Given the description of an element on the screen output the (x, y) to click on. 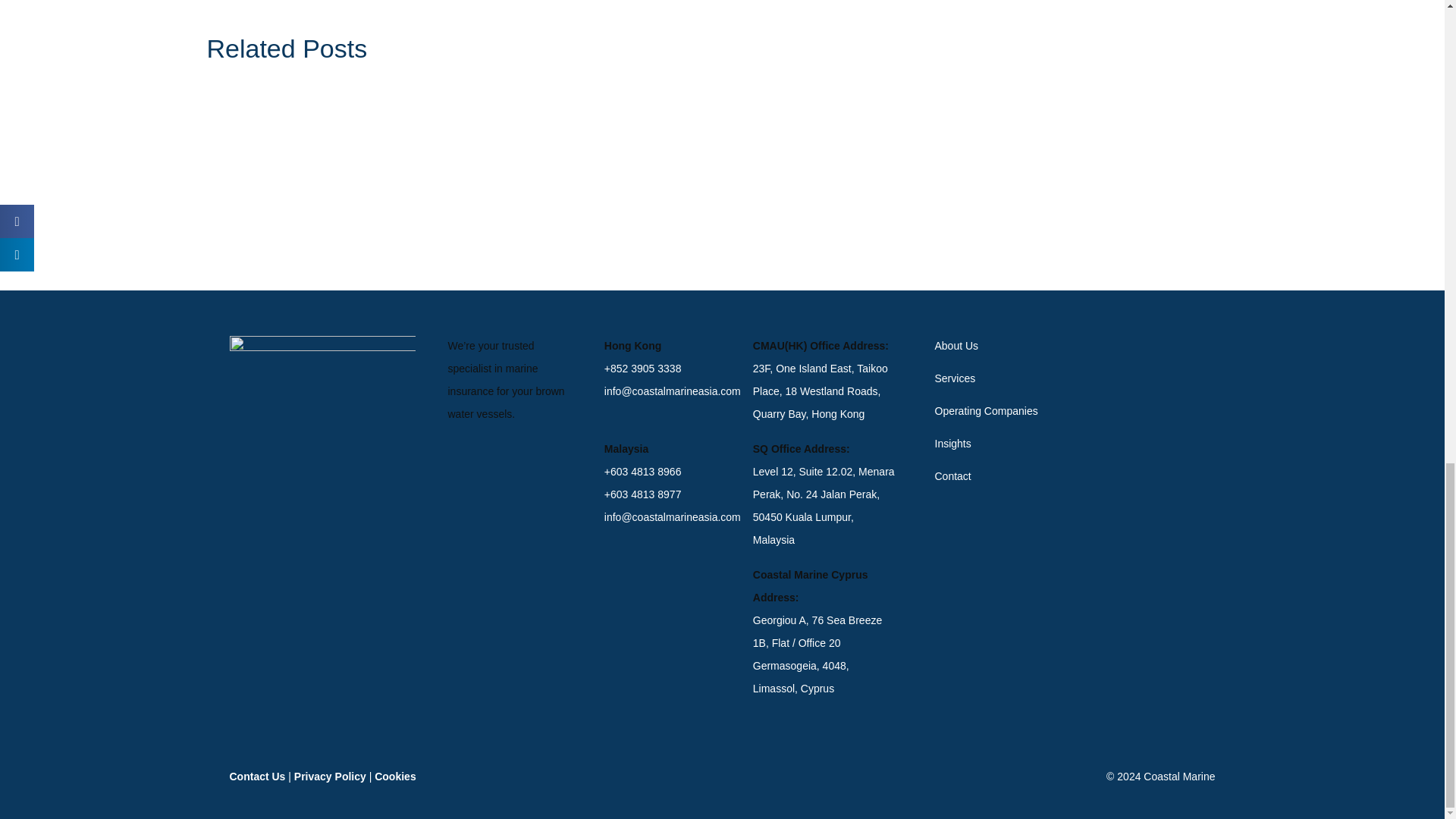
Insights (998, 443)
About Us (998, 345)
Services (998, 378)
Operating Companies (998, 410)
